Given the description of an element on the screen output the (x, y) to click on. 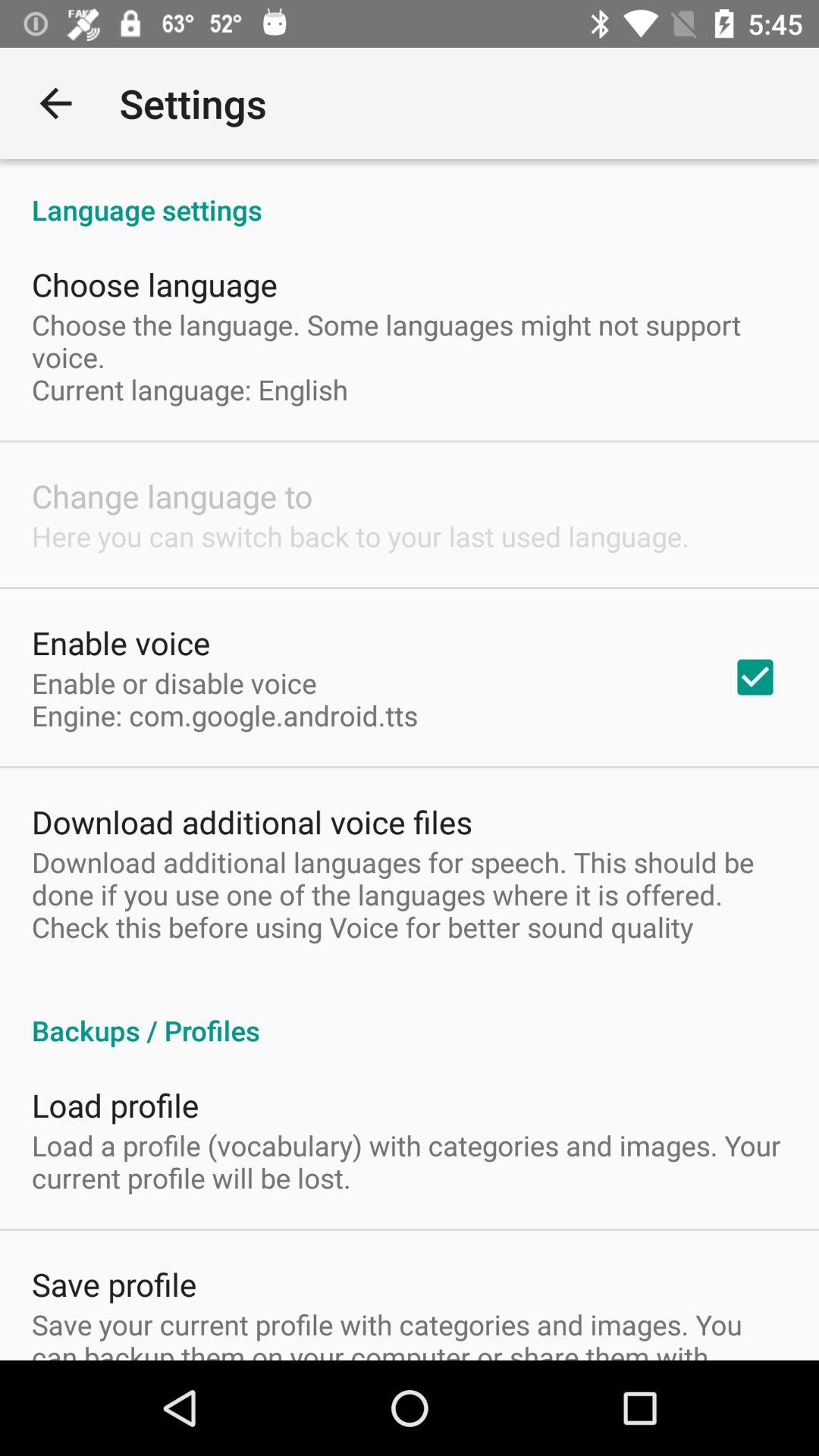
press icon below the enable voice app (224, 699)
